Given the description of an element on the screen output the (x, y) to click on. 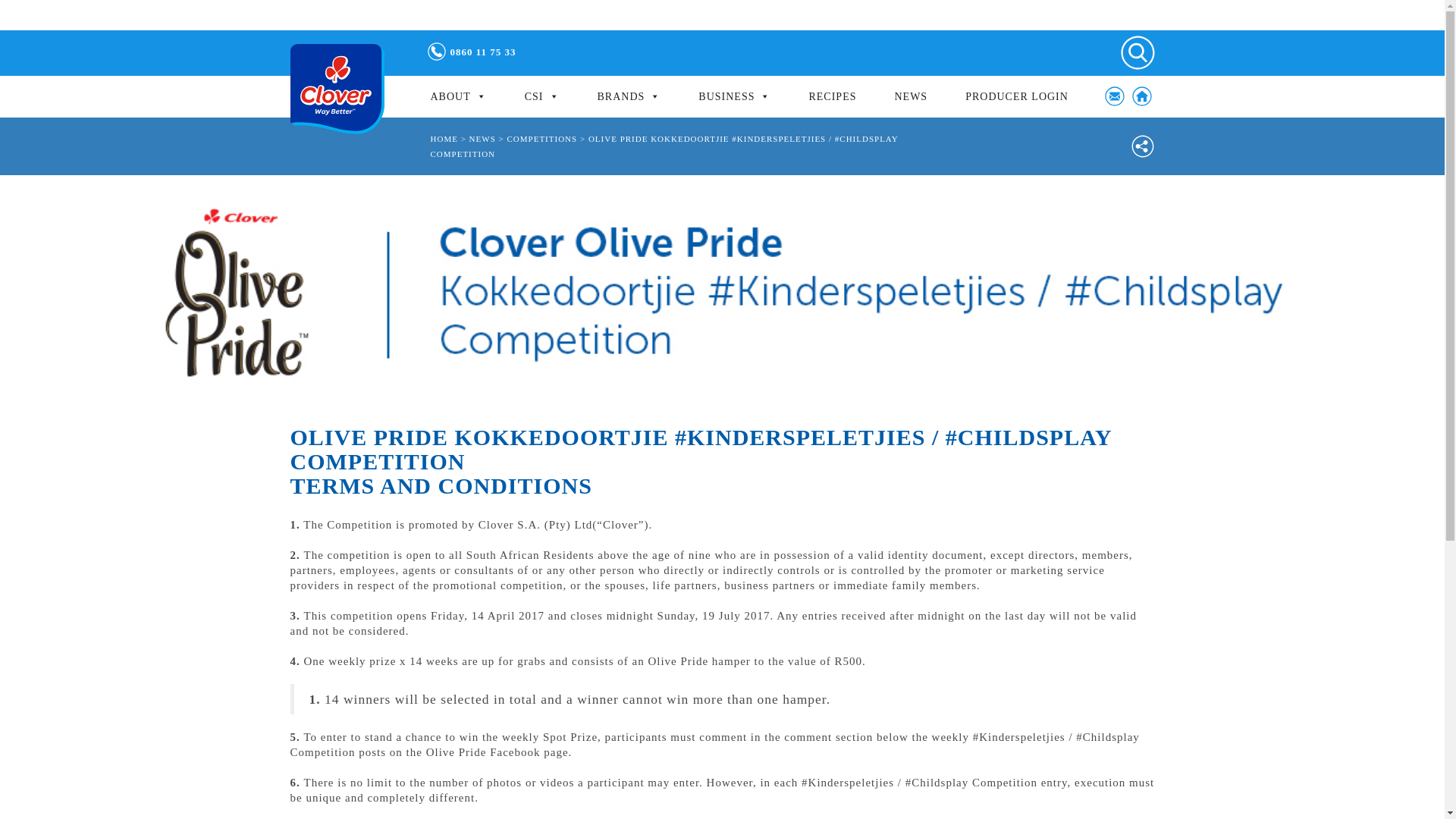
ABOUT (458, 96)
BRANDS (628, 96)
0860 11 75 33 (482, 51)
Go to Competitions page. (541, 138)
Go to News page. (482, 138)
